Given the description of an element on the screen output the (x, y) to click on. 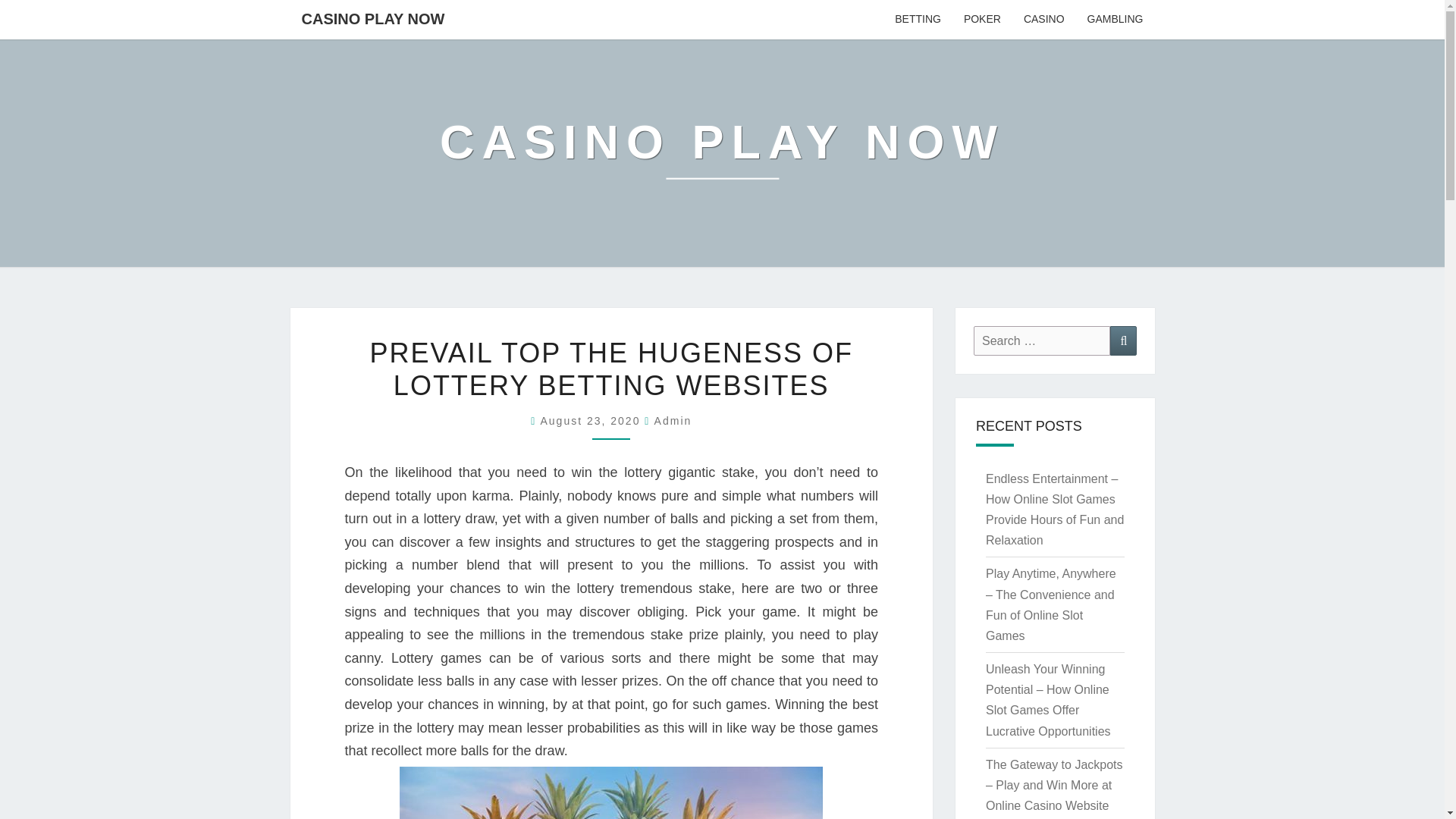
Search (1123, 340)
BETTING (917, 19)
View all posts by admin (673, 420)
Casino play now (721, 152)
Admin (673, 420)
CASINO (1043, 19)
CASINO PLAY NOW (372, 18)
POKER (981, 19)
8:31 am (592, 420)
CASINO PLAY NOW (721, 152)
Search for: (1041, 340)
GAMBLING (1114, 19)
August 23, 2020 (592, 420)
